Given the description of an element on the screen output the (x, y) to click on. 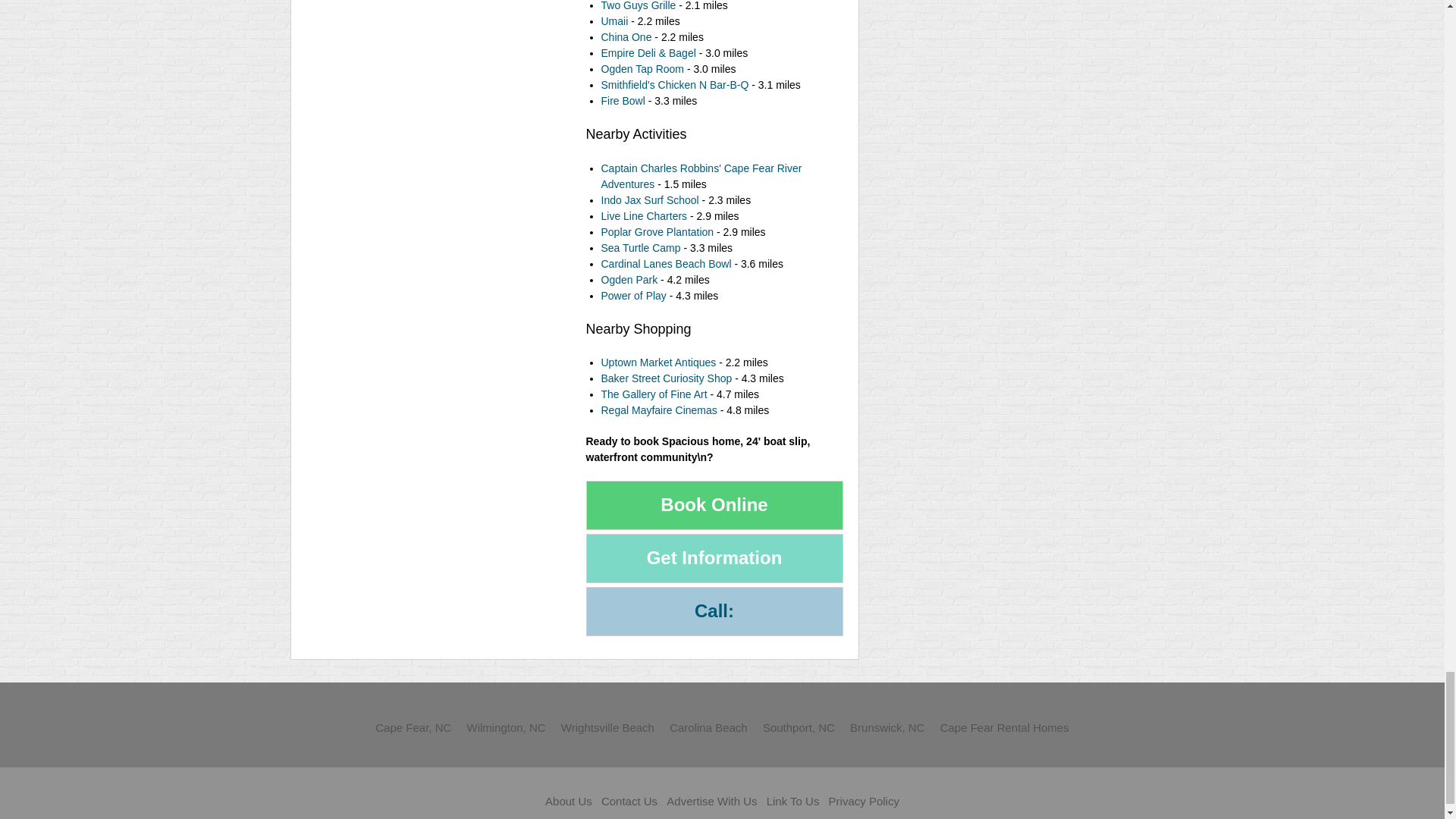
Ogden Tap Room (642, 69)
China One (624, 37)
Two Guys Grille (637, 5)
Indo Jax Surf School (648, 200)
Umaii (613, 21)
Smithfield's Chicken N Bar-B-Q (675, 84)
Fire Bowl (622, 101)
Captain Charles Robbins' Cape Fear River Adventures (700, 176)
